Given the description of an element on the screen output the (x, y) to click on. 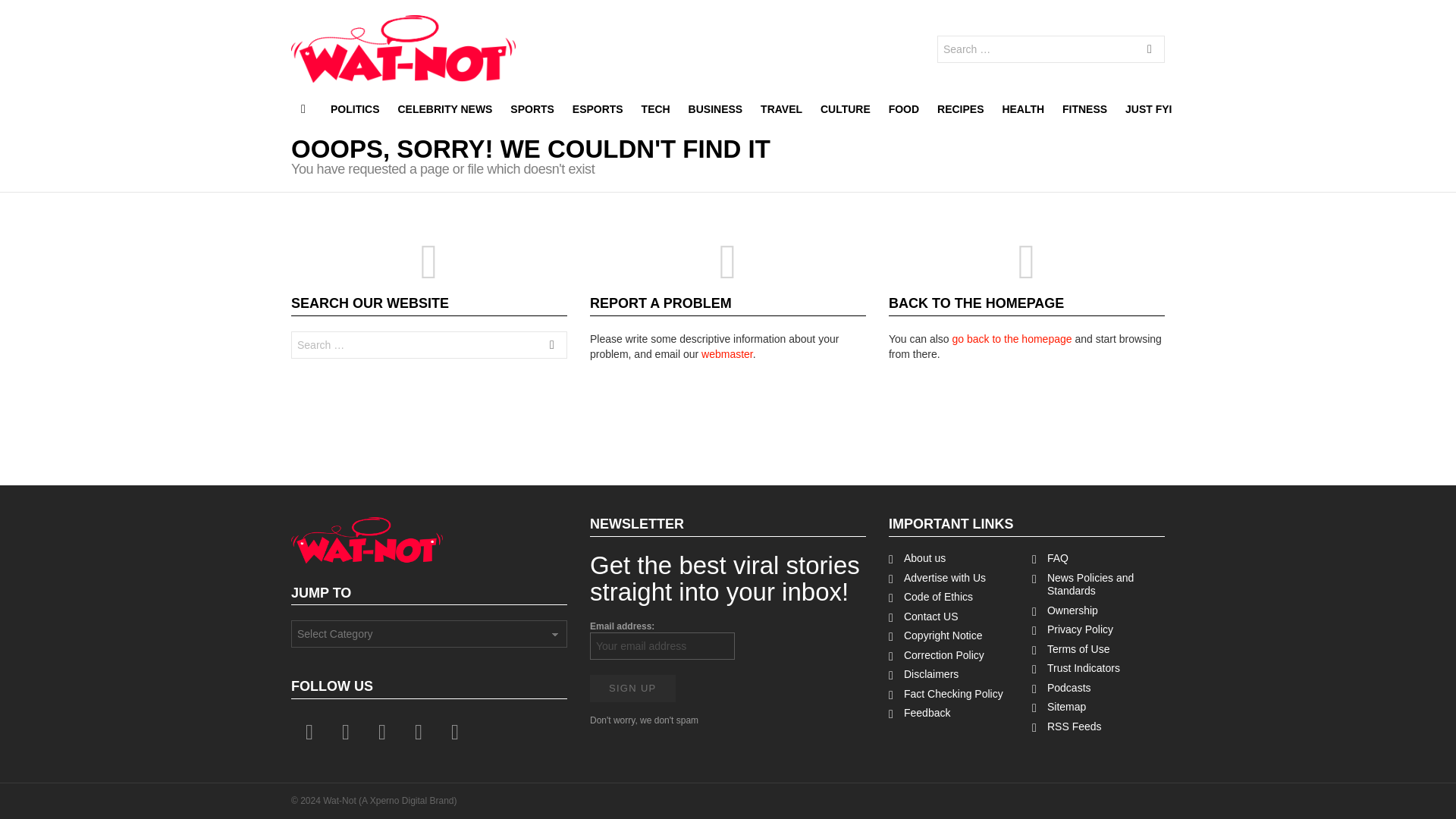
About us (955, 558)
facebook (309, 732)
Sign up (632, 687)
Fact Checking Policy (955, 694)
pinterest (418, 732)
go back to the homepage (1011, 338)
twitter (345, 732)
youtube (454, 732)
Disclaimers (955, 674)
POLITICS (355, 108)
ESPORTS (597, 108)
Search for: (1050, 49)
TRAVEL (780, 108)
FAQ (1098, 558)
BUSINESS (716, 108)
